Given the description of an element on the screen output the (x, y) to click on. 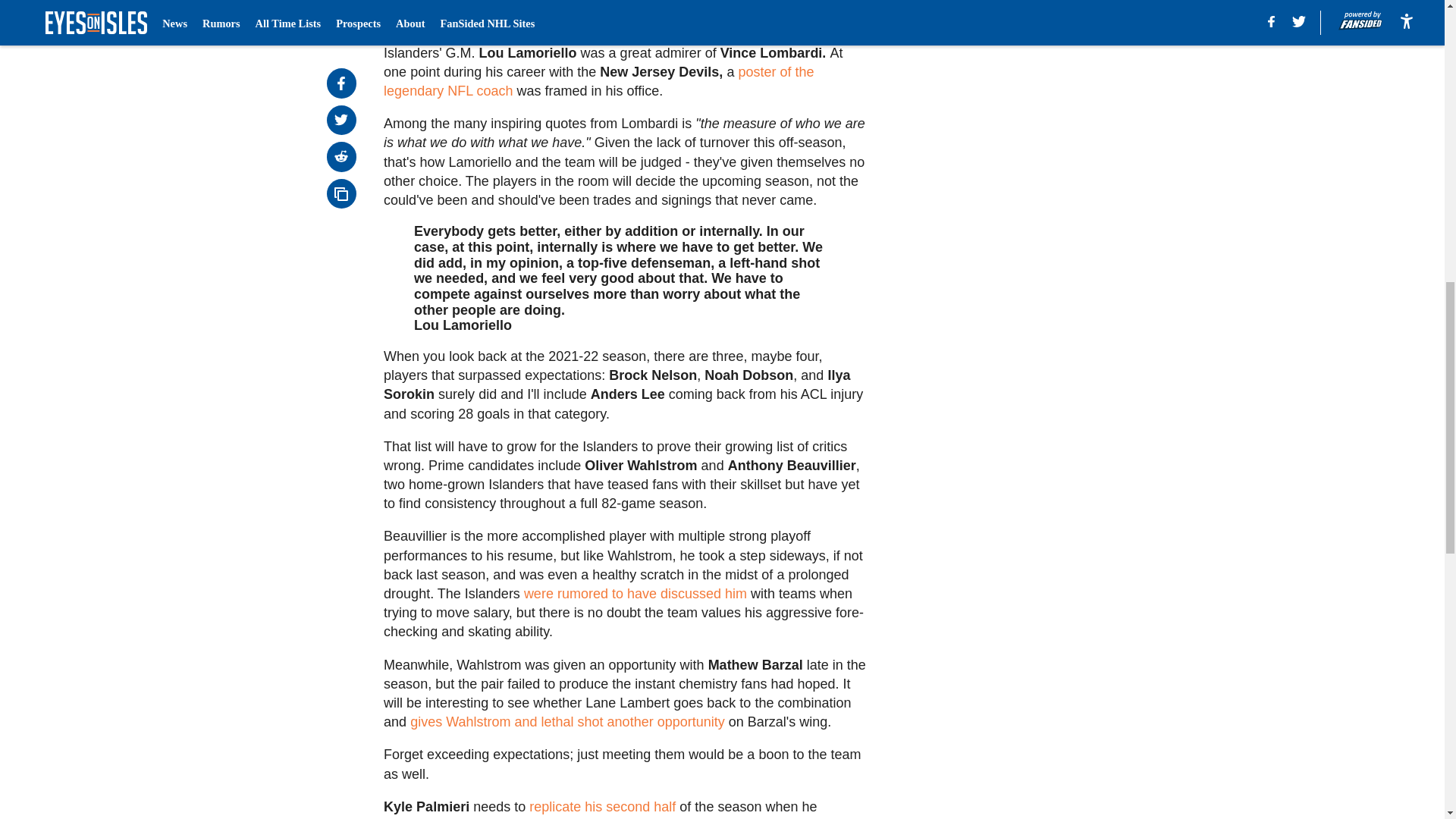
poster of the legendary NFL coach (598, 81)
gives Wahlstrom and lethal shot another opportunity (565, 721)
were rumored to have discussed him (635, 593)
replicate his second half (604, 806)
